Given the description of an element on the screen output the (x, y) to click on. 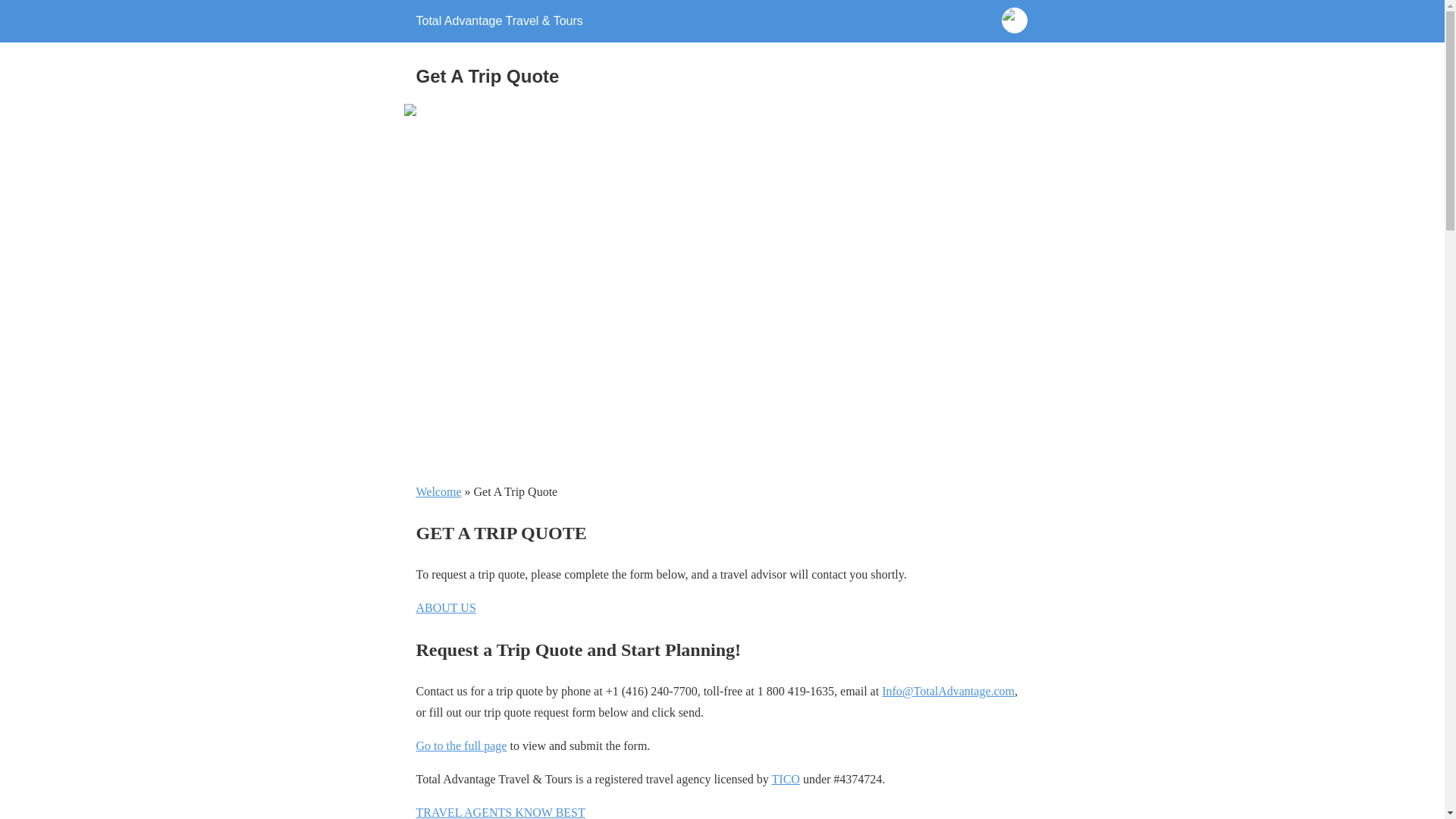
Go to the full page (460, 745)
Welcome (437, 491)
ABOUT US (445, 607)
TRAVEL AGENTS KNOW BEST (499, 812)
TICO (785, 779)
